Given the description of an element on the screen output the (x, y) to click on. 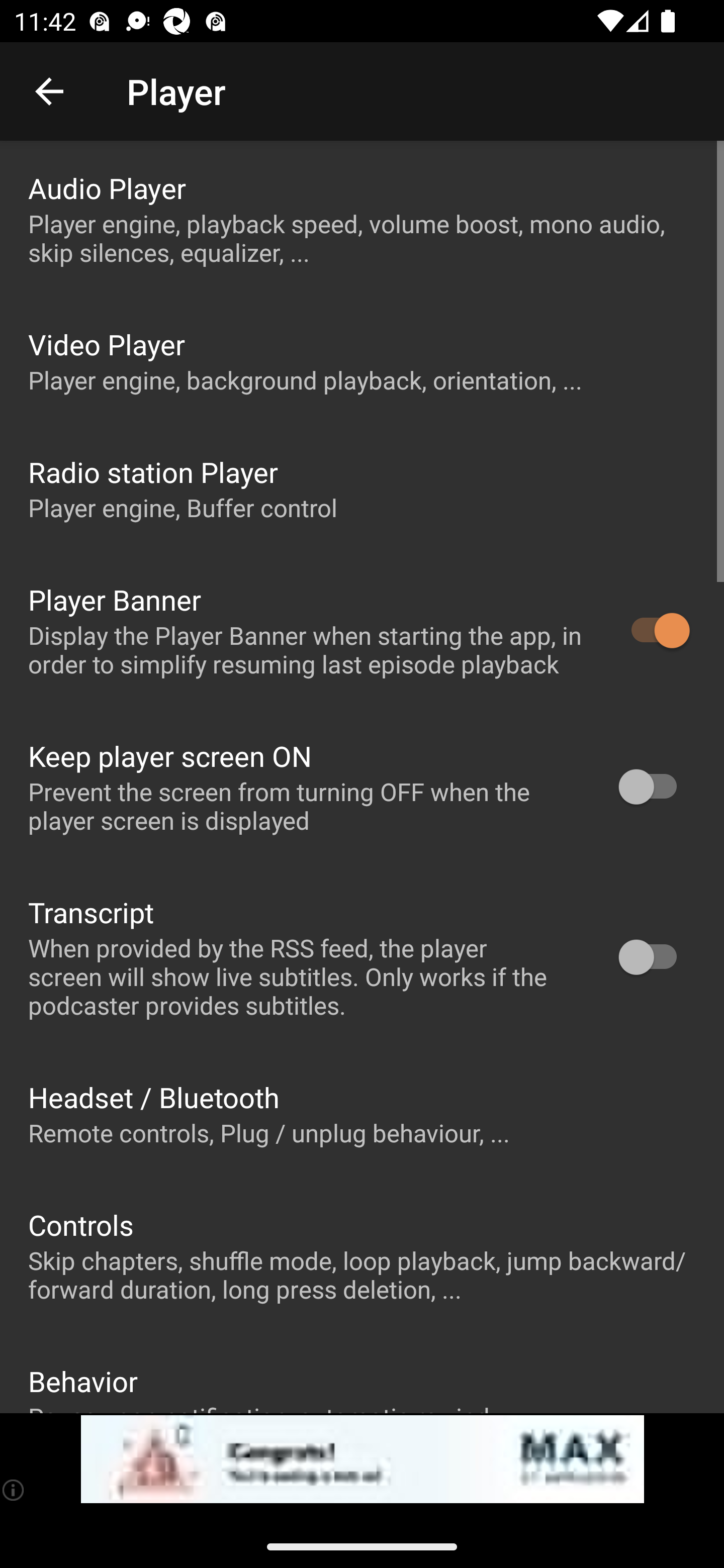
Navigate up (49, 91)
Radio station Player Player engine, Buffer control (362, 487)
app-monetization (362, 1459)
(i) (14, 1489)
